Given the description of an element on the screen output the (x, y) to click on. 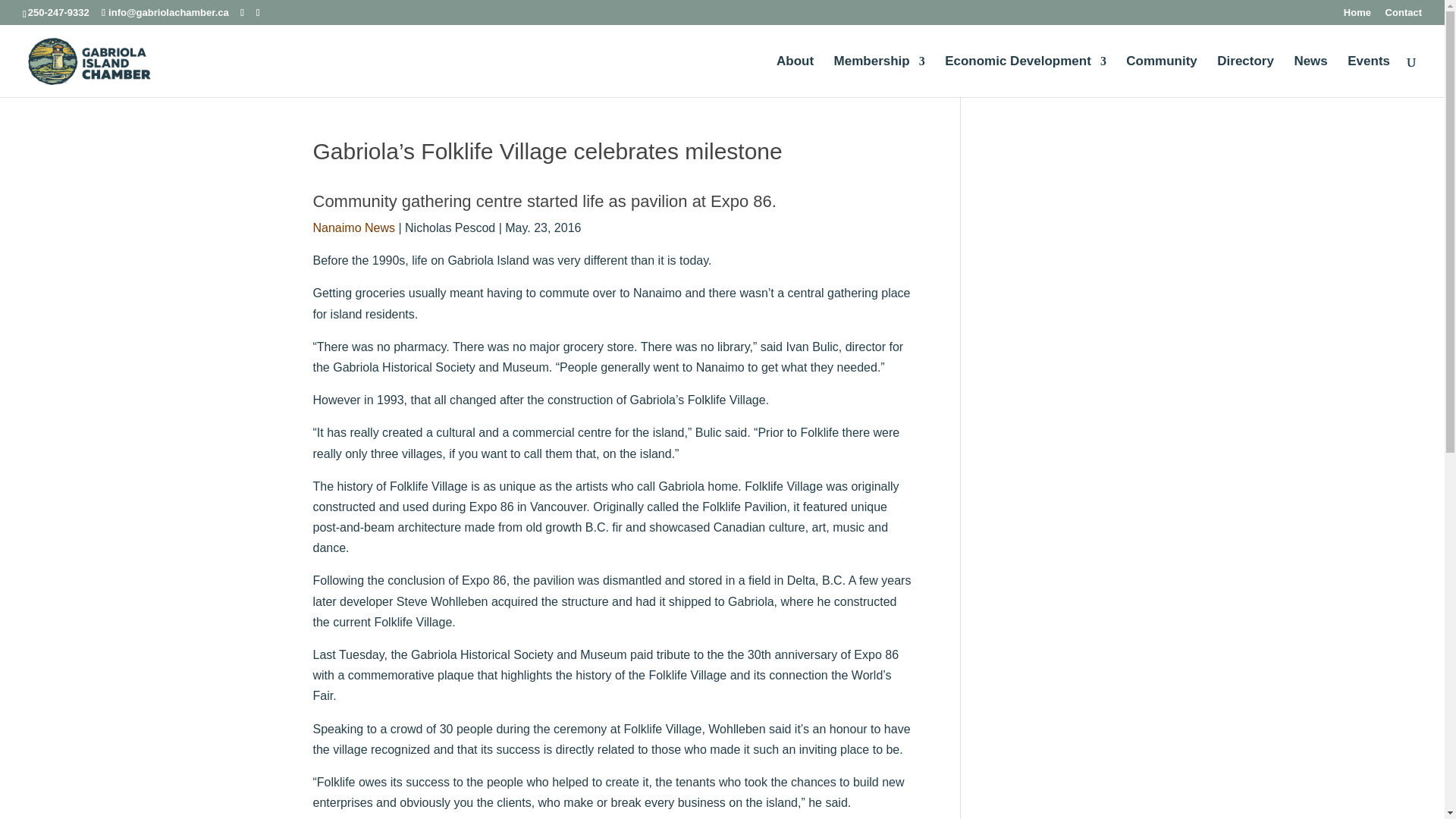
Nanaimo News (353, 227)
Events (1369, 76)
Membership (879, 76)
Community (1160, 76)
Home (1357, 16)
About (794, 76)
Directory (1245, 76)
Economic Development (1025, 76)
Contact (1404, 16)
